Given the description of an element on the screen output the (x, y) to click on. 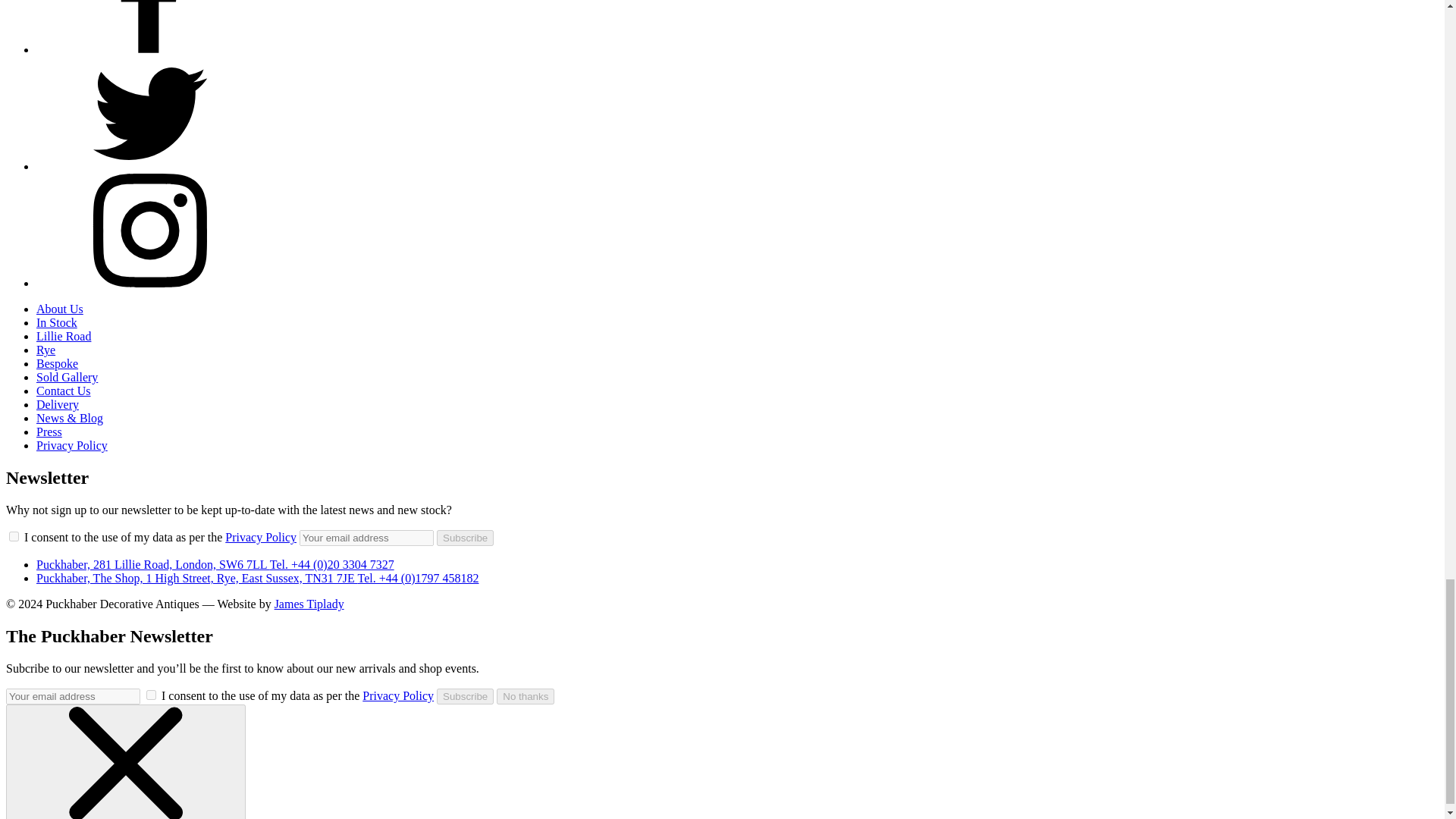
on (13, 536)
on (151, 695)
